Given the description of an element on the screen output the (x, y) to click on. 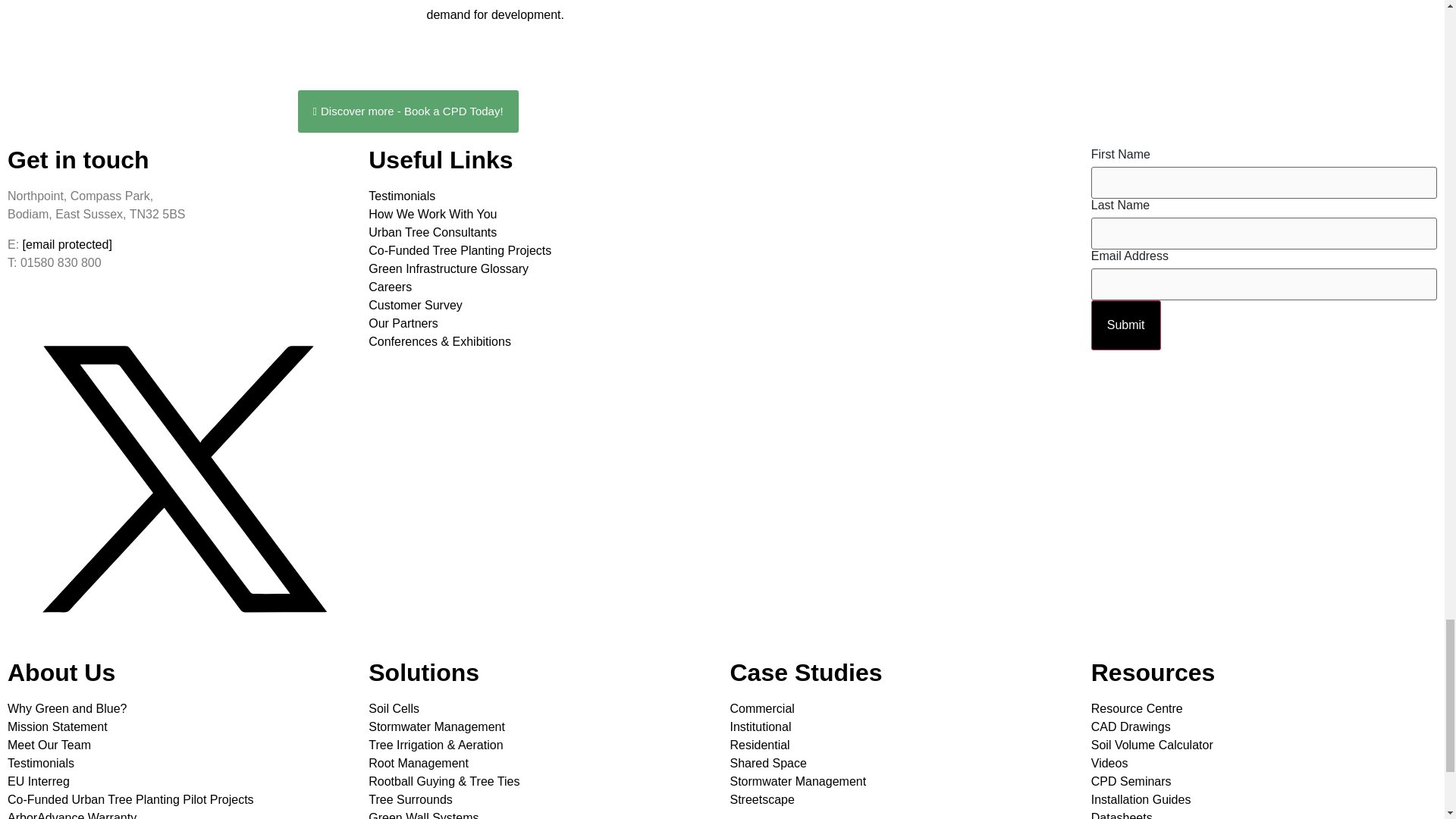
Submit (1125, 325)
